Given the description of an element on the screen output the (x, y) to click on. 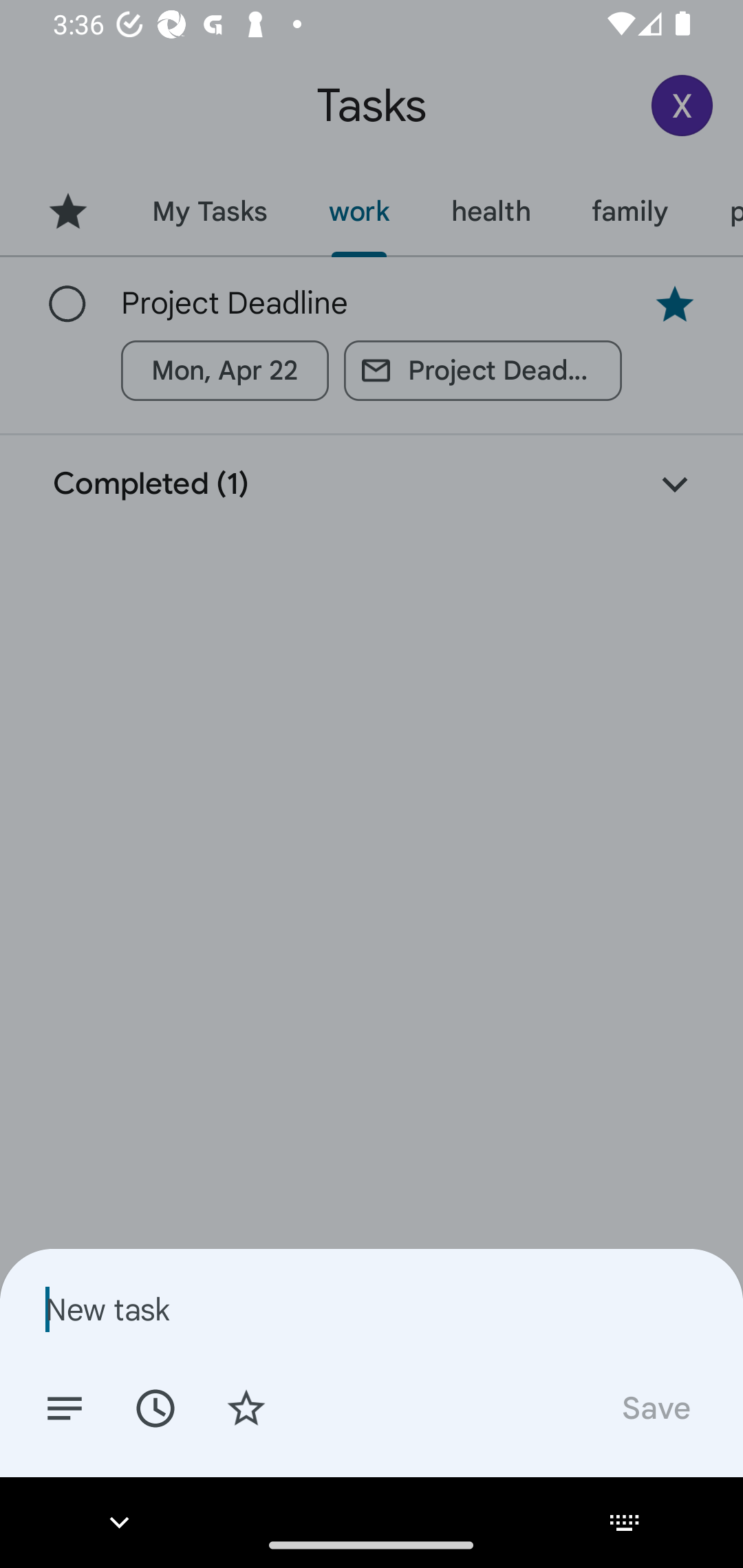
New task (371, 1308)
Save (655, 1407)
Add details (64, 1407)
Set date/time (154, 1407)
Add star (245, 1407)
